Given the description of an element on the screen output the (x, y) to click on. 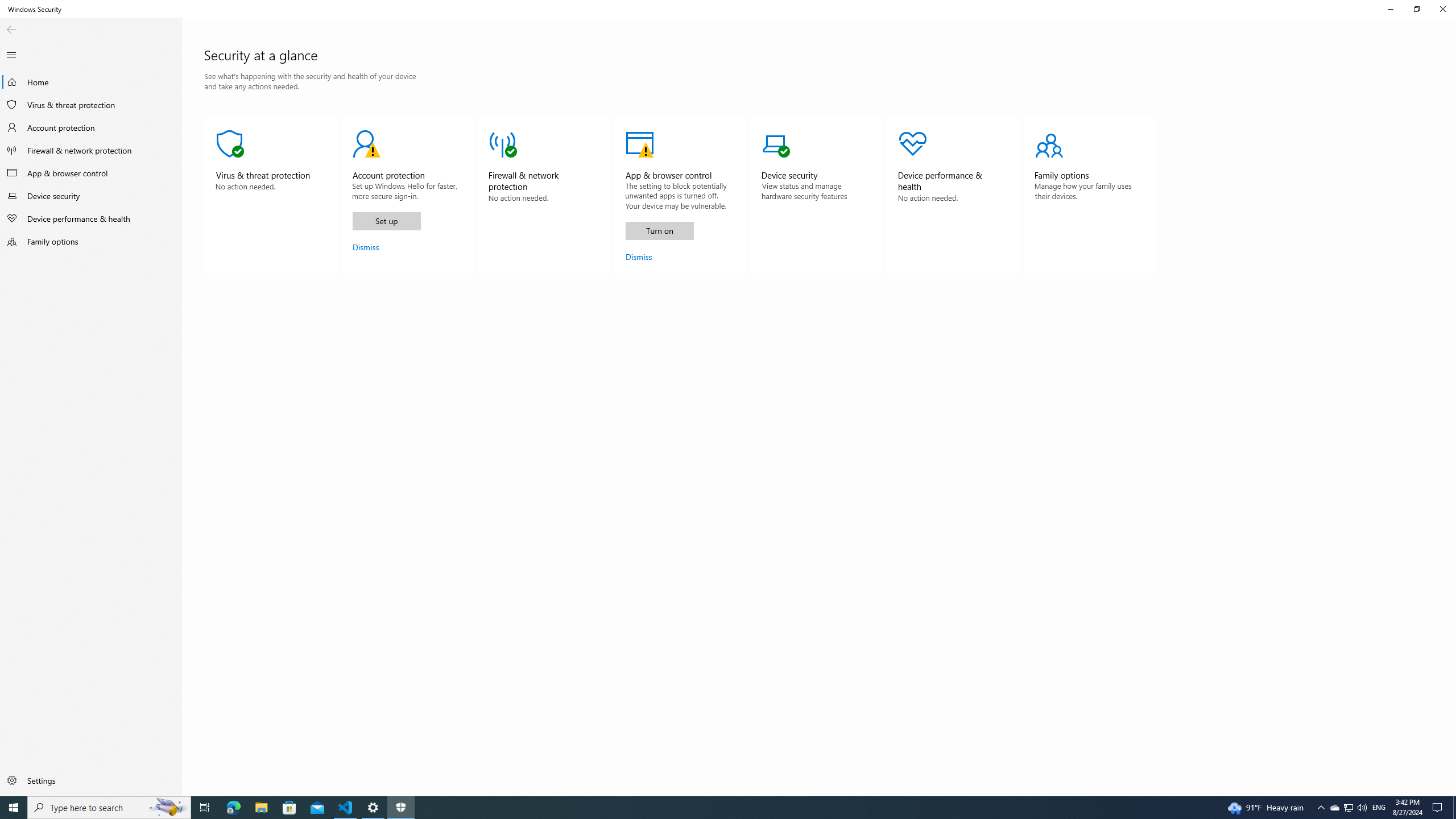
Device securityNo action needed. (816, 195)
Start (13, 807)
Task View (204, 807)
Family optionsNo action needed. (1089, 195)
Device performance & healthNo action needed. (952, 195)
Dismiss (1333, 807)
Running applications (639, 256)
Settings (706, 807)
Family options (91, 780)
File Explorer (91, 241)
Virus & threat protection (261, 807)
Device security (270, 195)
